Given the description of an element on the screen output the (x, y) to click on. 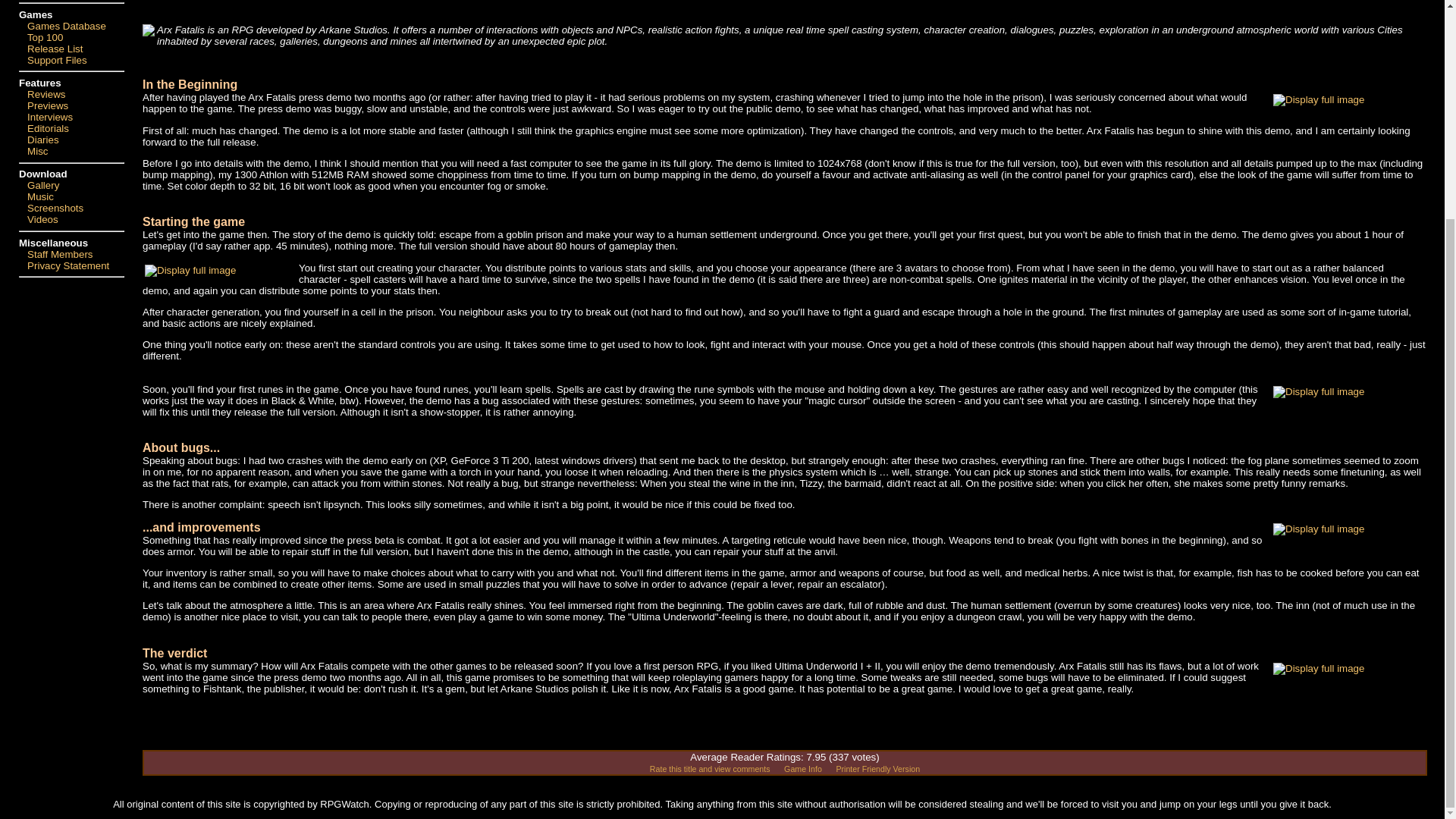
Screenshots (54, 207)
Reviews (46, 93)
Gallery (43, 184)
Staff Members (60, 254)
Release List (54, 48)
Diaries (42, 139)
Interviews (49, 116)
Games Database (66, 25)
Printer Friendly Version (877, 768)
Privacy Statement (68, 265)
Videos (42, 219)
Previews (47, 105)
Top 100 (44, 37)
Game Info (803, 768)
Editorials (47, 128)
